Given the description of an element on the screen output the (x, y) to click on. 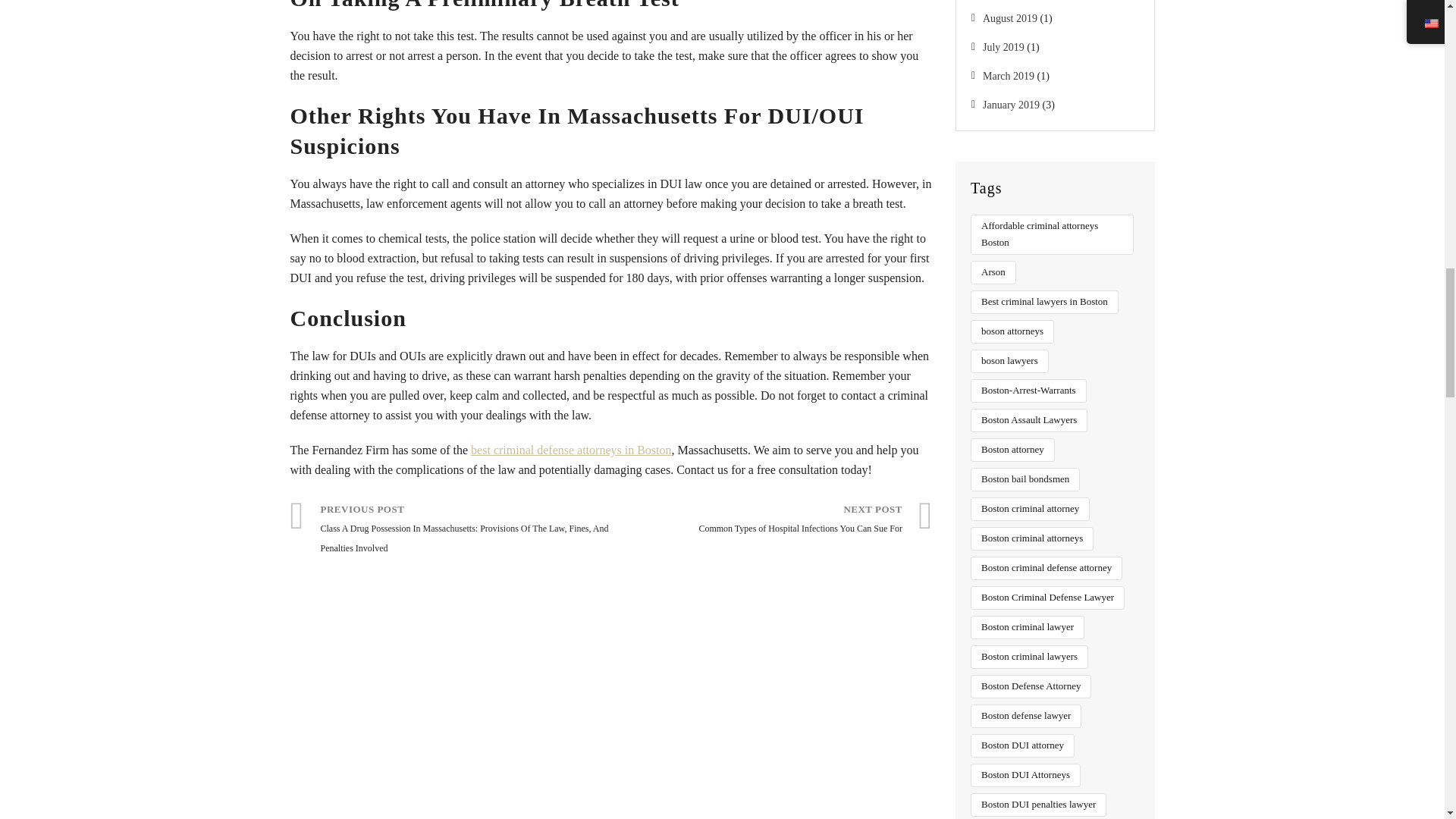
Common Types of Hospital Infections You Can Sue For (772, 520)
